Given the description of an element on the screen output the (x, y) to click on. 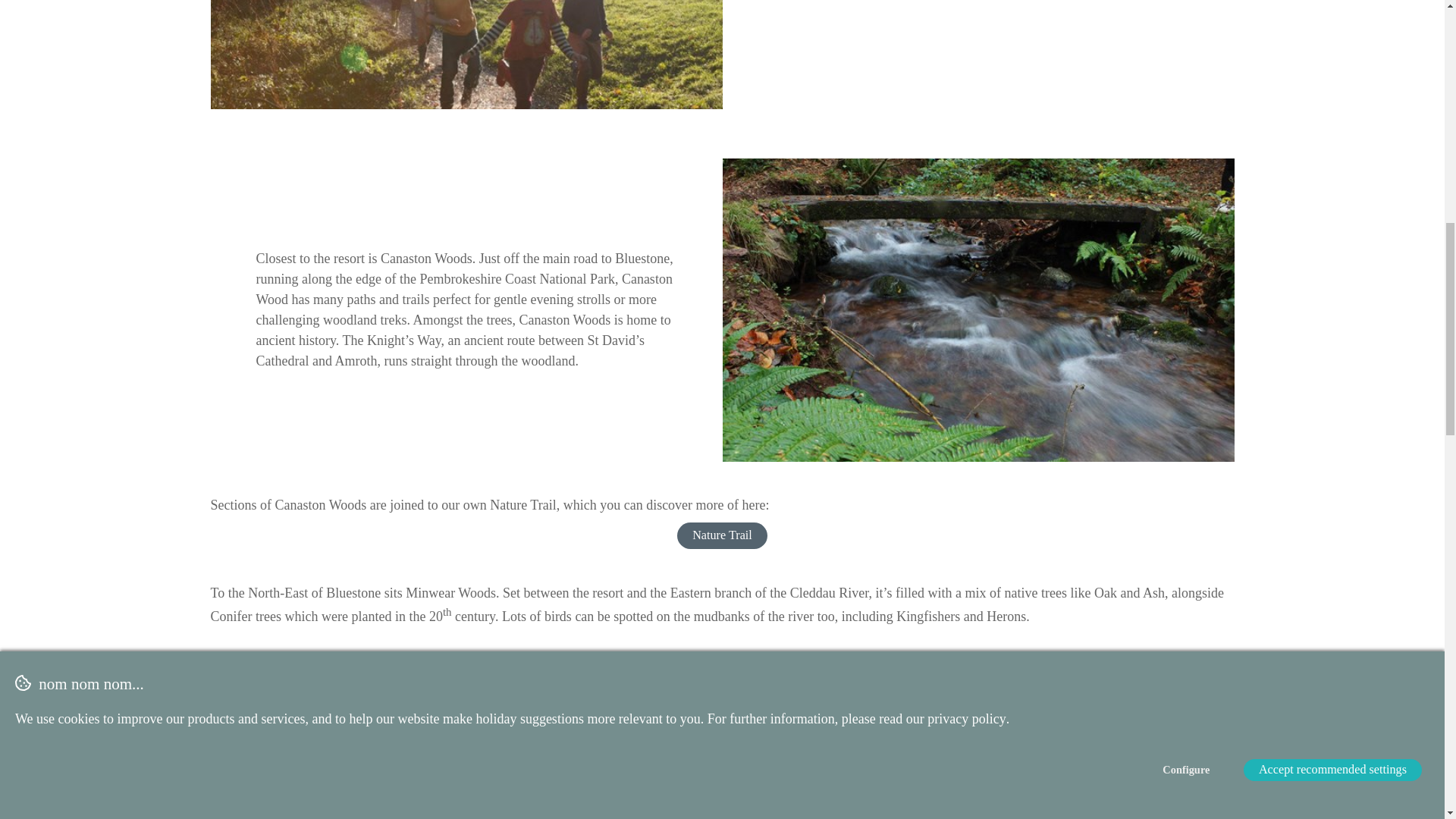
Nature Trail (722, 535)
